Given the description of an element on the screen output the (x, y) to click on. 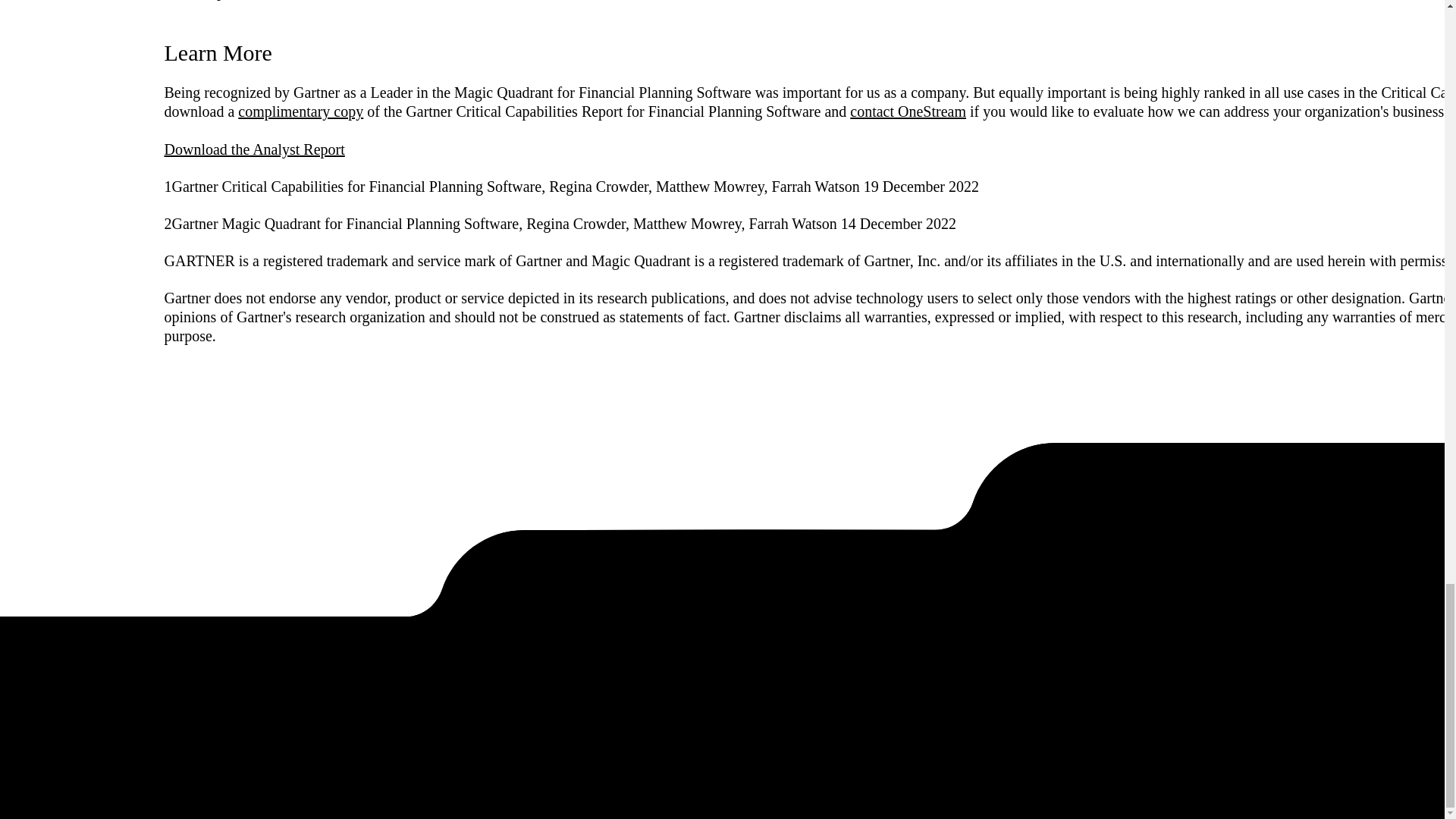
contact OneStream (908, 111)
complimentary copy (300, 111)
Download the Analyst Report (253, 149)
